Given the description of an element on the screen output the (x, y) to click on. 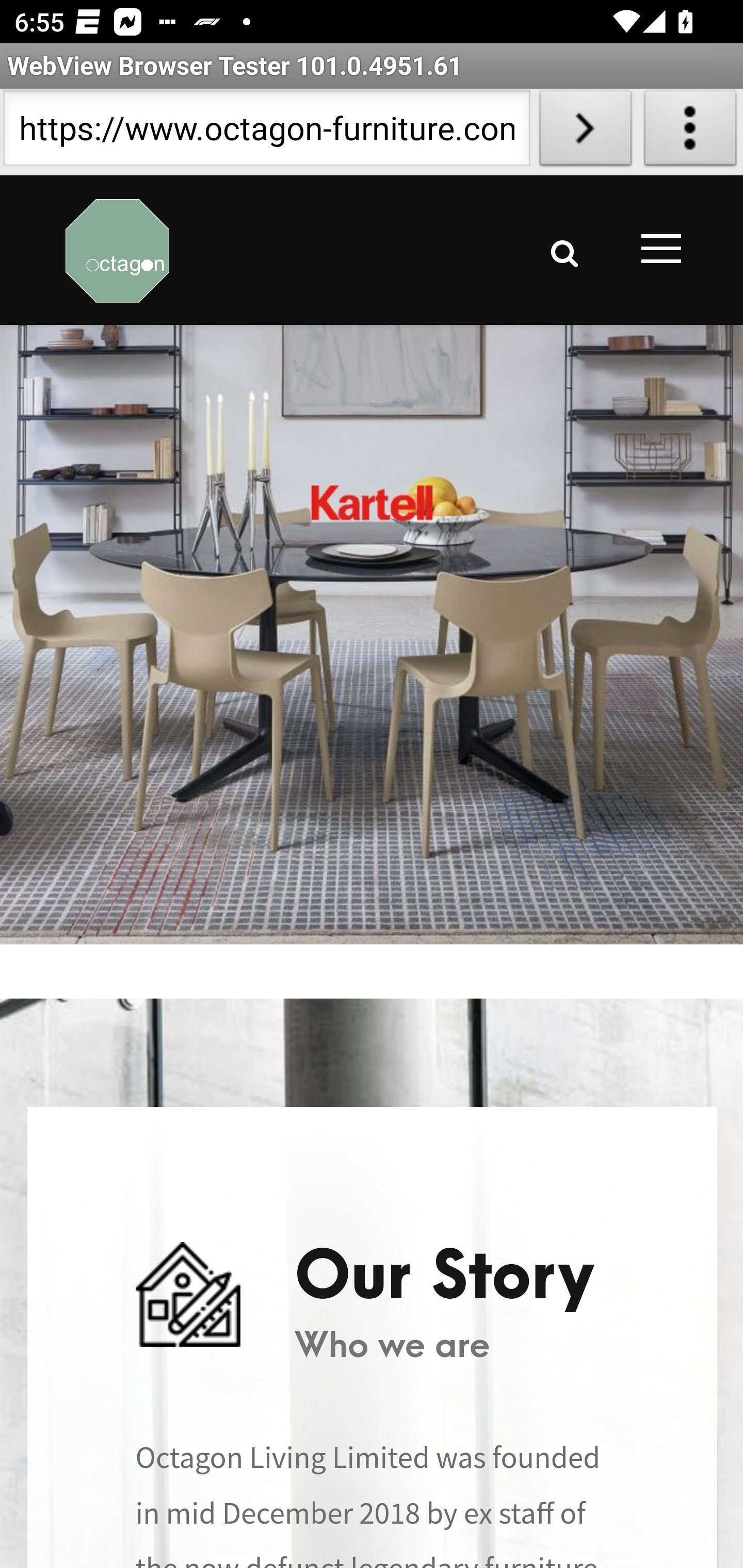
Load URL (585, 132)
About WebView (690, 132)
www.octagon-furniture (118, 248)
 (564, 253)
the-new-perspective-of-kartell (371, 634)
